Given the description of an element on the screen output the (x, y) to click on. 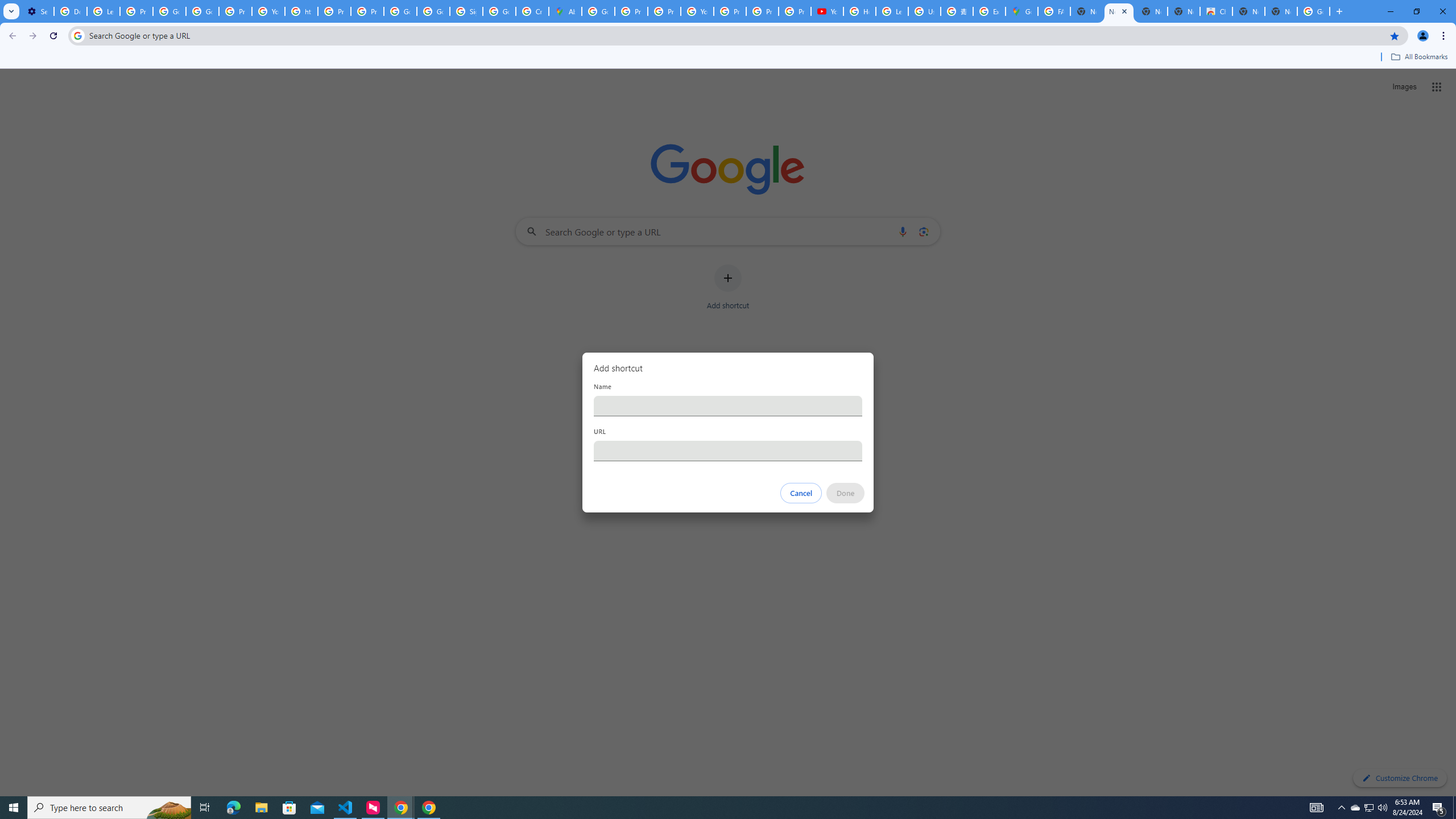
Google Account Help (202, 11)
Sign in - Google Accounts (465, 11)
Cancel (801, 493)
Learn how to find your photos - Google Photos Help (103, 11)
Chrome Web Store (1216, 11)
